Given the description of an element on the screen output the (x, y) to click on. 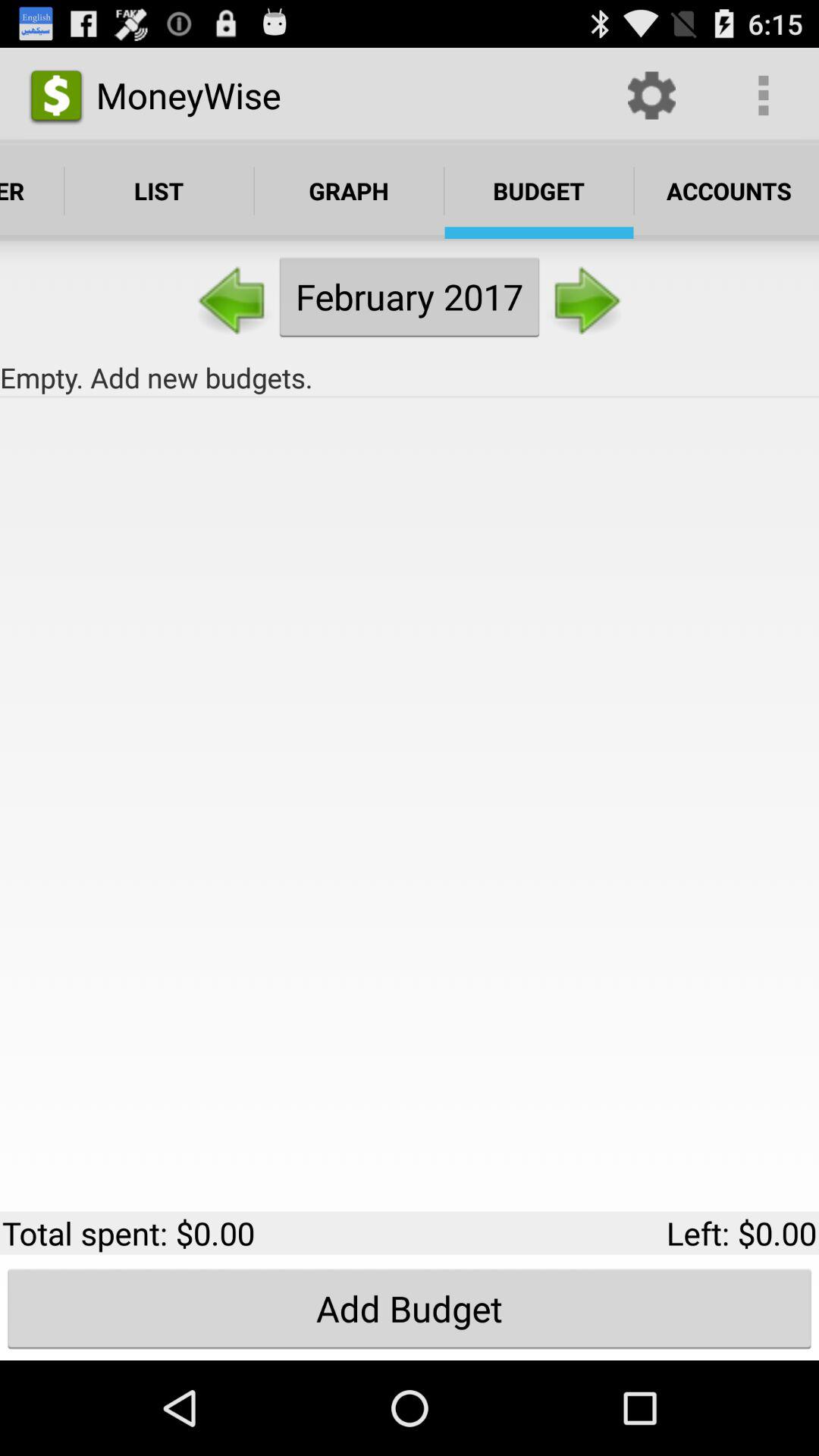
tap app below graph (409, 296)
